Given the description of an element on the screen output the (x, y) to click on. 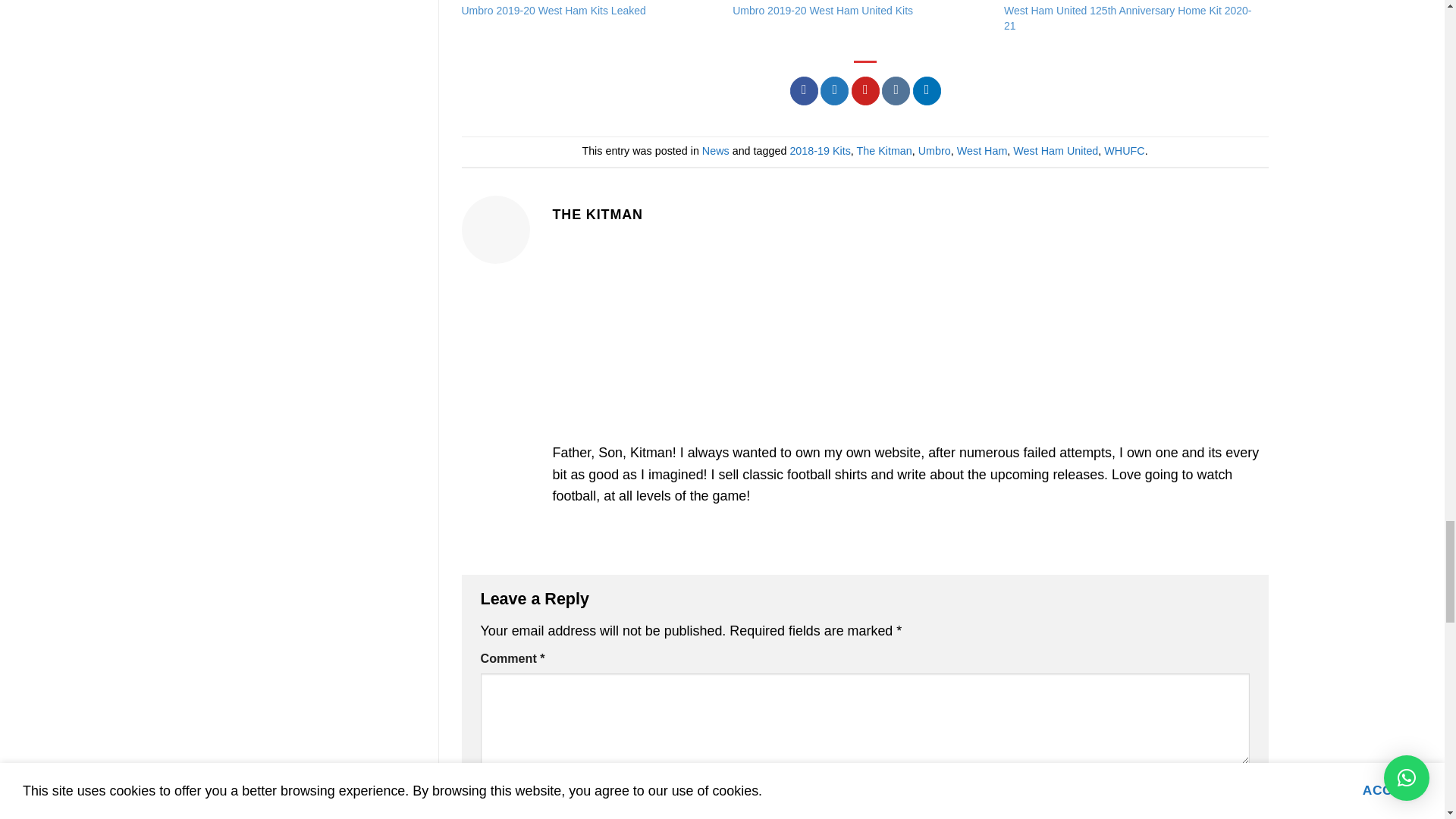
West Ham United 125th Anniversary Home Kit 2020-21 (1132, 1)
Umbro 2019-20 West Ham United Kits (860, 1)
Share on Facebook (804, 90)
Umbro 2019-20 West Ham Kits Leaked (553, 10)
Share on Twitter (834, 90)
Umbro 2019-20 West Ham United Kits (822, 10)
Umbro 2019-20 West Ham Kits Leaked (589, 1)
West Ham United 125th Anniversary Home Kit 2020-21 (1128, 17)
